Given the description of an element on the screen output the (x, y) to click on. 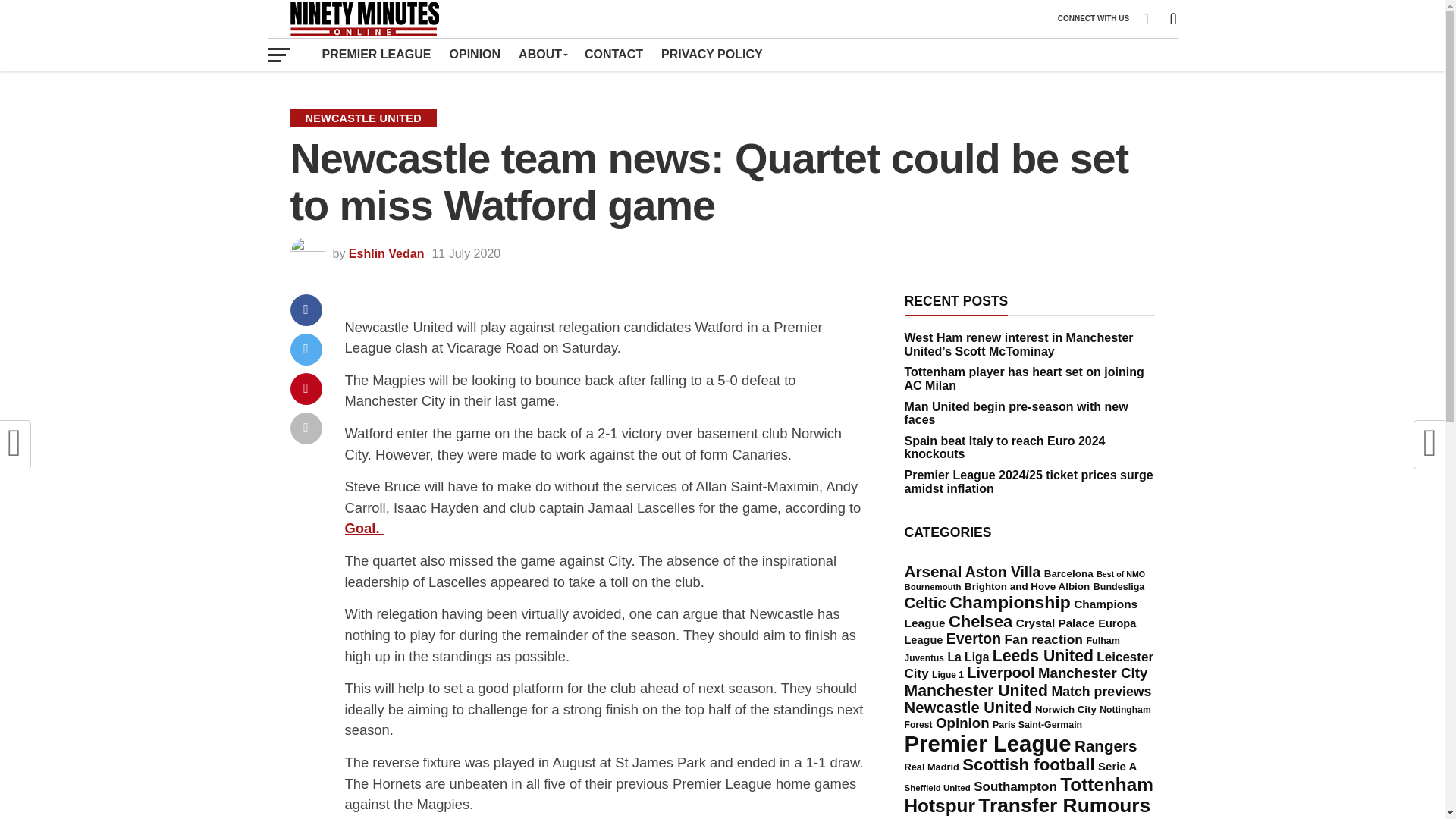
Spain beat Italy to reach Euro 2024 knockouts (1004, 447)
PRIVACY POLICY (711, 54)
CONTACT (613, 54)
Posts by Eshlin Vedan (387, 253)
Eshlin Vedan (387, 253)
Goal. (362, 528)
Best of NMO (1120, 573)
PREMIER LEAGUE (376, 54)
Man United begin pre-season with new faces (1015, 413)
Aston Villa (1003, 571)
